Given the description of an element on the screen output the (x, y) to click on. 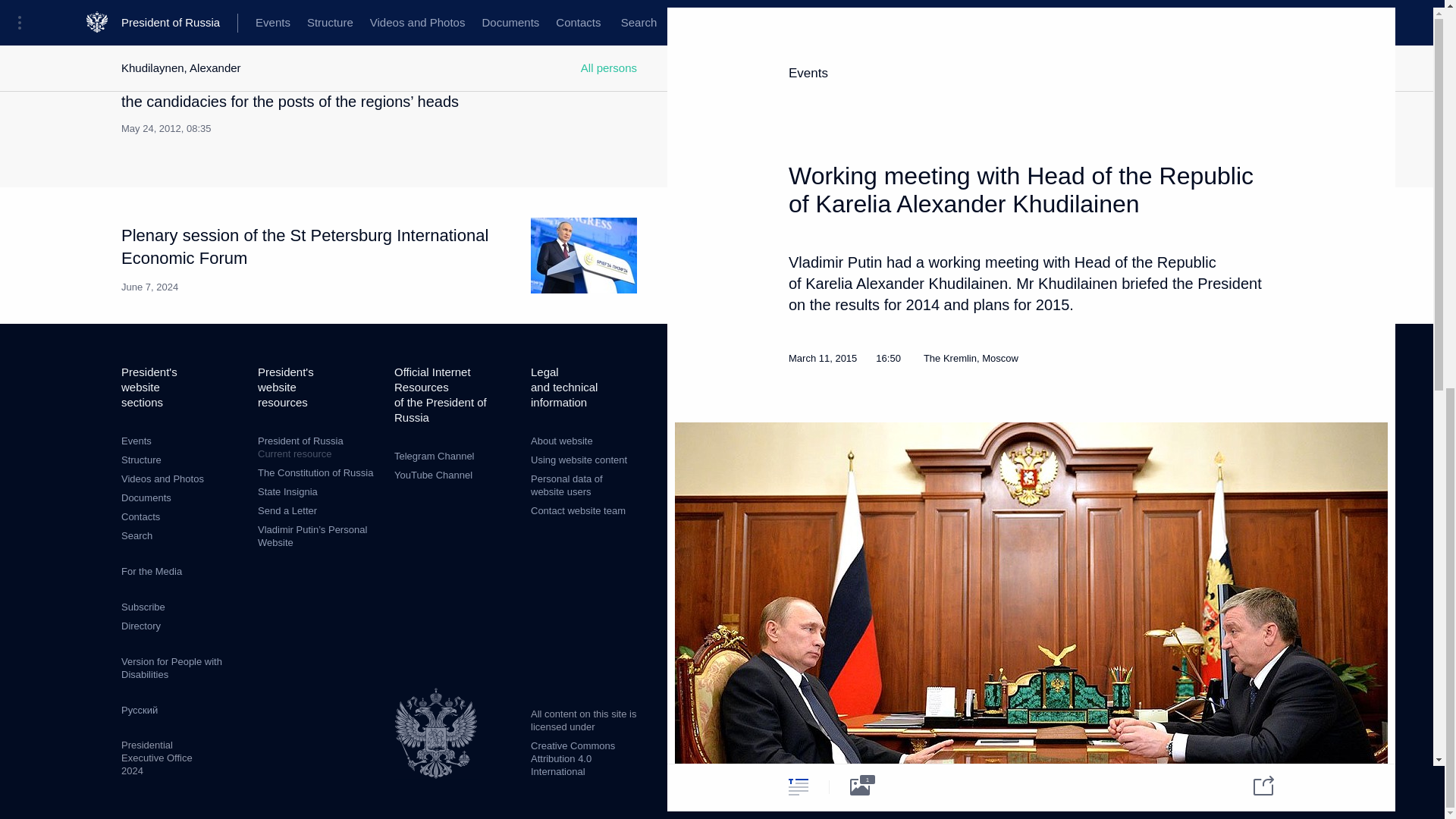
Send a Letter (287, 510)
Structure (140, 460)
Events (135, 440)
Version for People with Disabilities (171, 668)
For the Media (317, 447)
Share (151, 571)
State Insignia (1253, 49)
Search (287, 491)
The Constitution of Russia (136, 535)
